Given the description of an element on the screen output the (x, y) to click on. 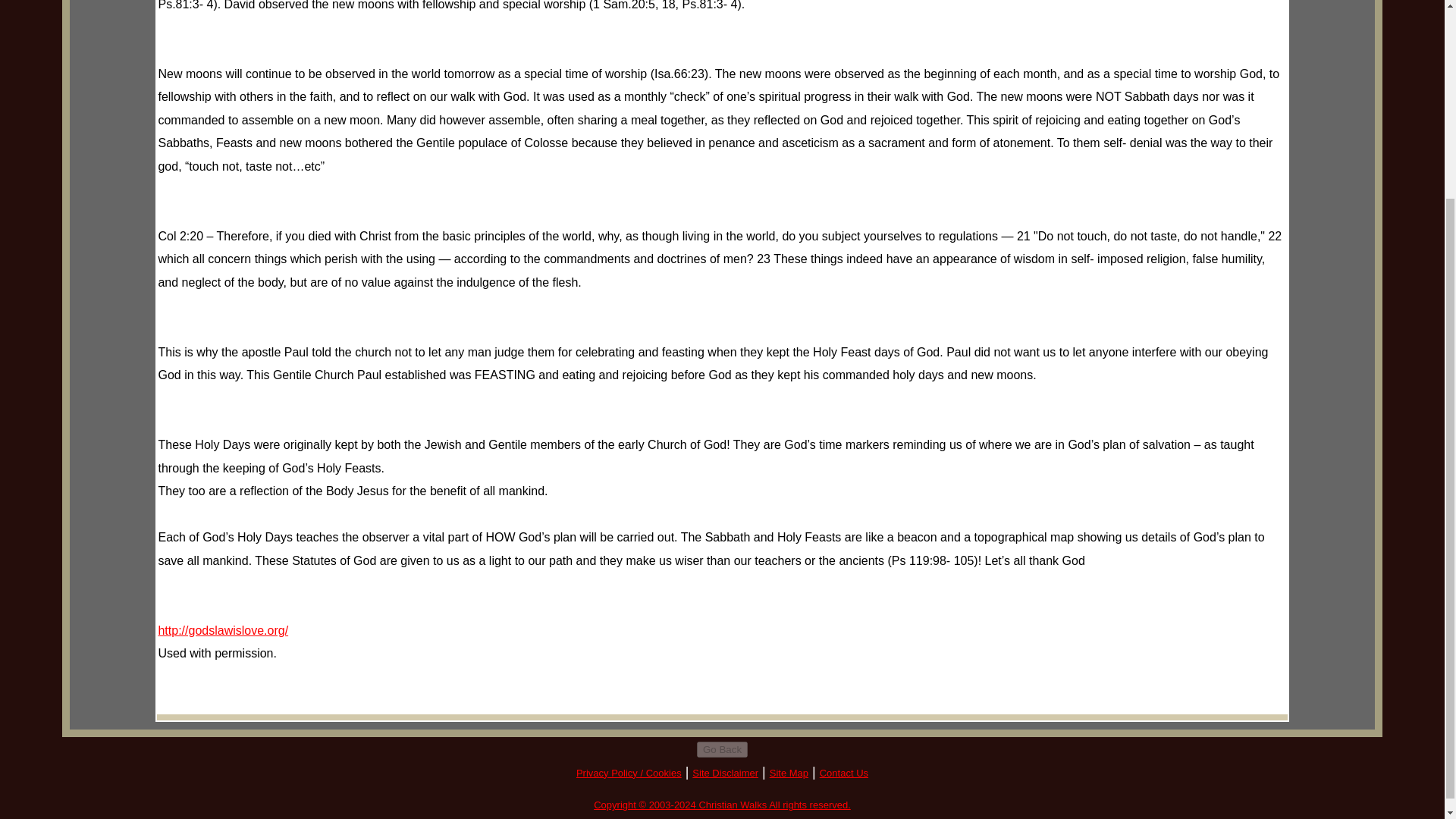
Go Back (722, 749)
Contact Us (843, 772)
Site Map (789, 772)
Site Disclaimer (725, 772)
